Given the description of an element on the screen output the (x, y) to click on. 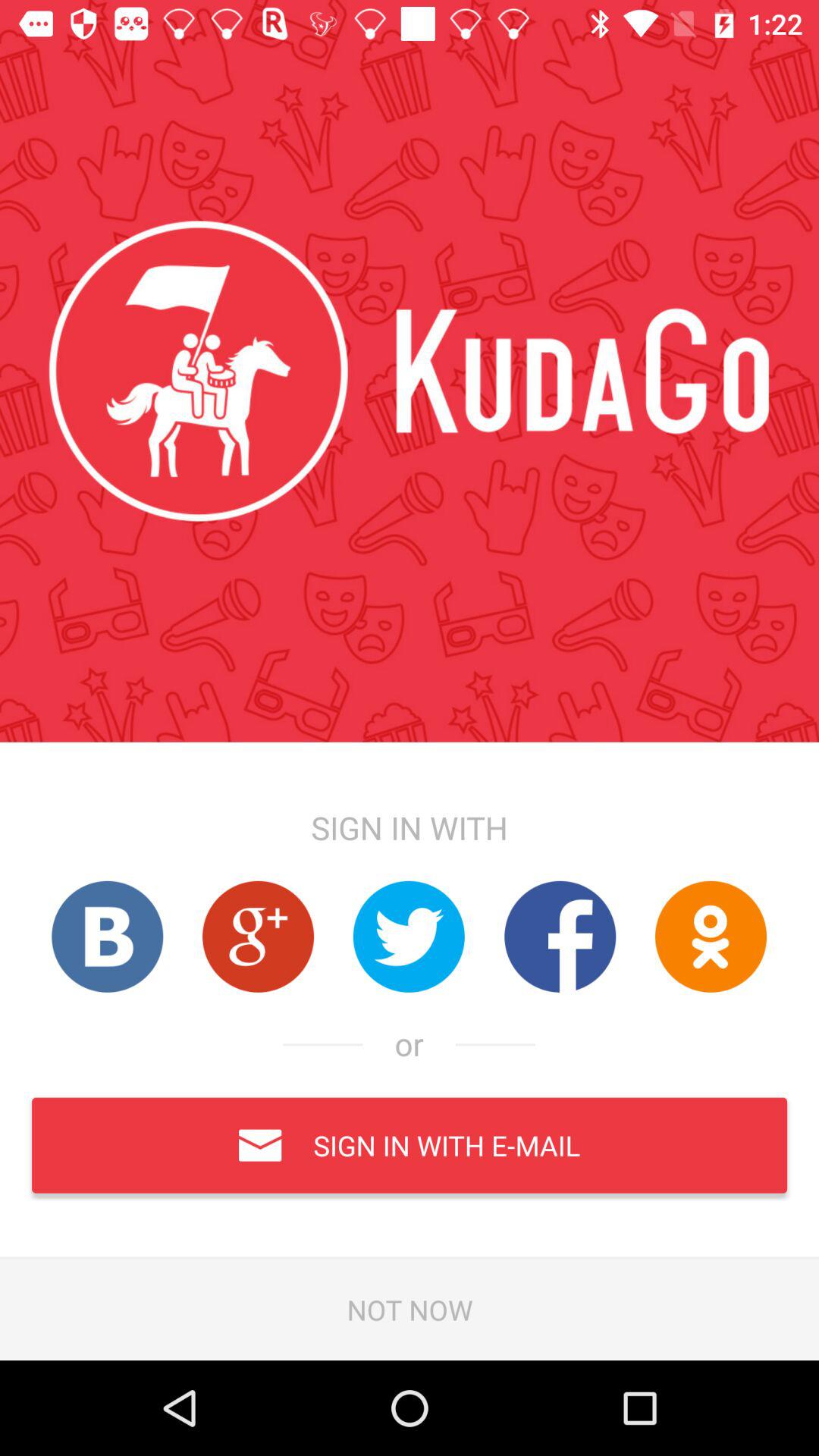
sign in with google+ (257, 936)
